Given the description of an element on the screen output the (x, y) to click on. 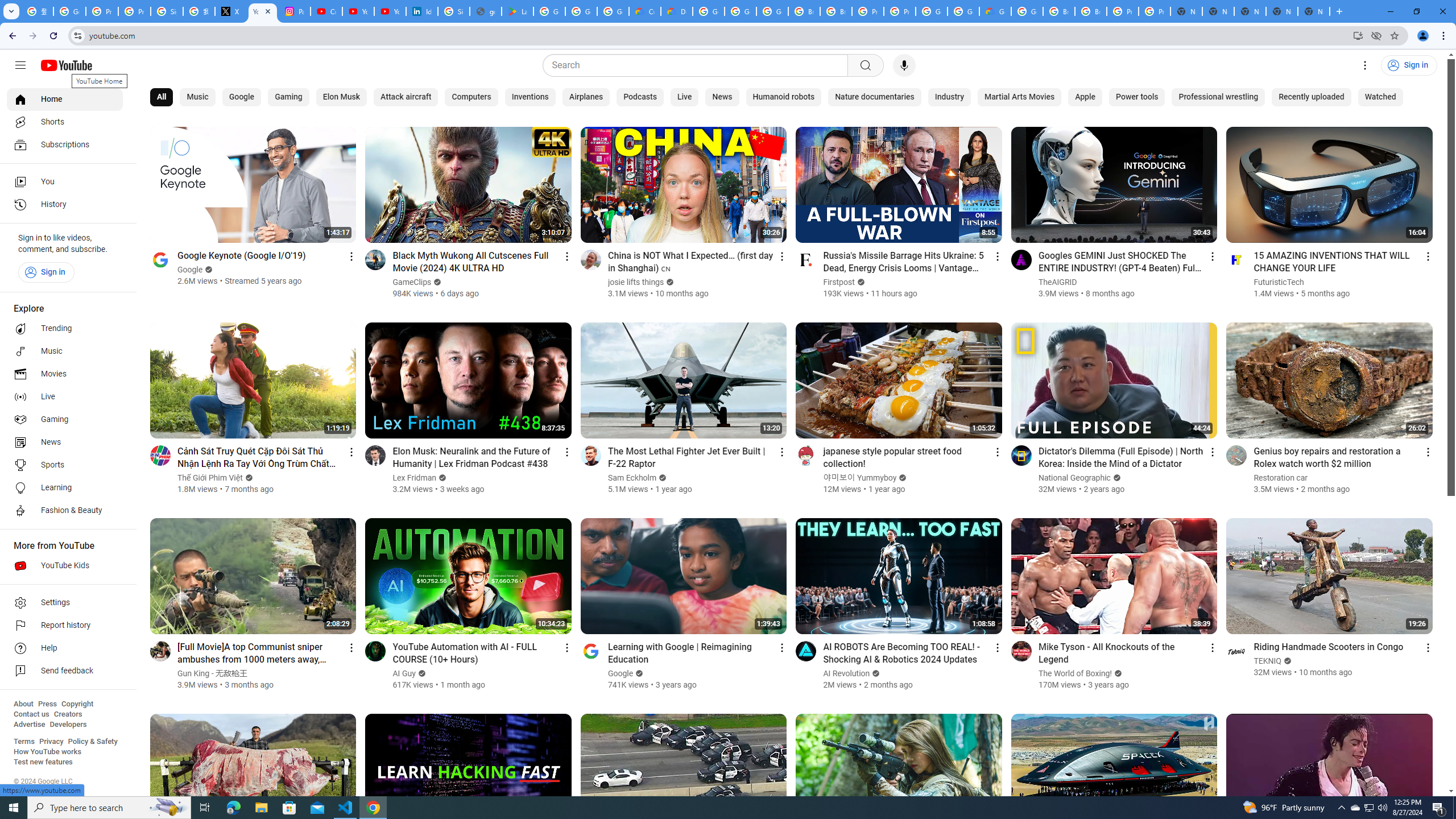
Gaming (64, 419)
YouTube Home (66, 65)
Professional wrestling (1218, 97)
Apple (1085, 97)
TheAIGRID (1057, 282)
Guide (20, 65)
Test new features (42, 761)
All (161, 97)
TEKNIQ (1267, 661)
Google Cloud Platform (963, 11)
